Given the description of an element on the screen output the (x, y) to click on. 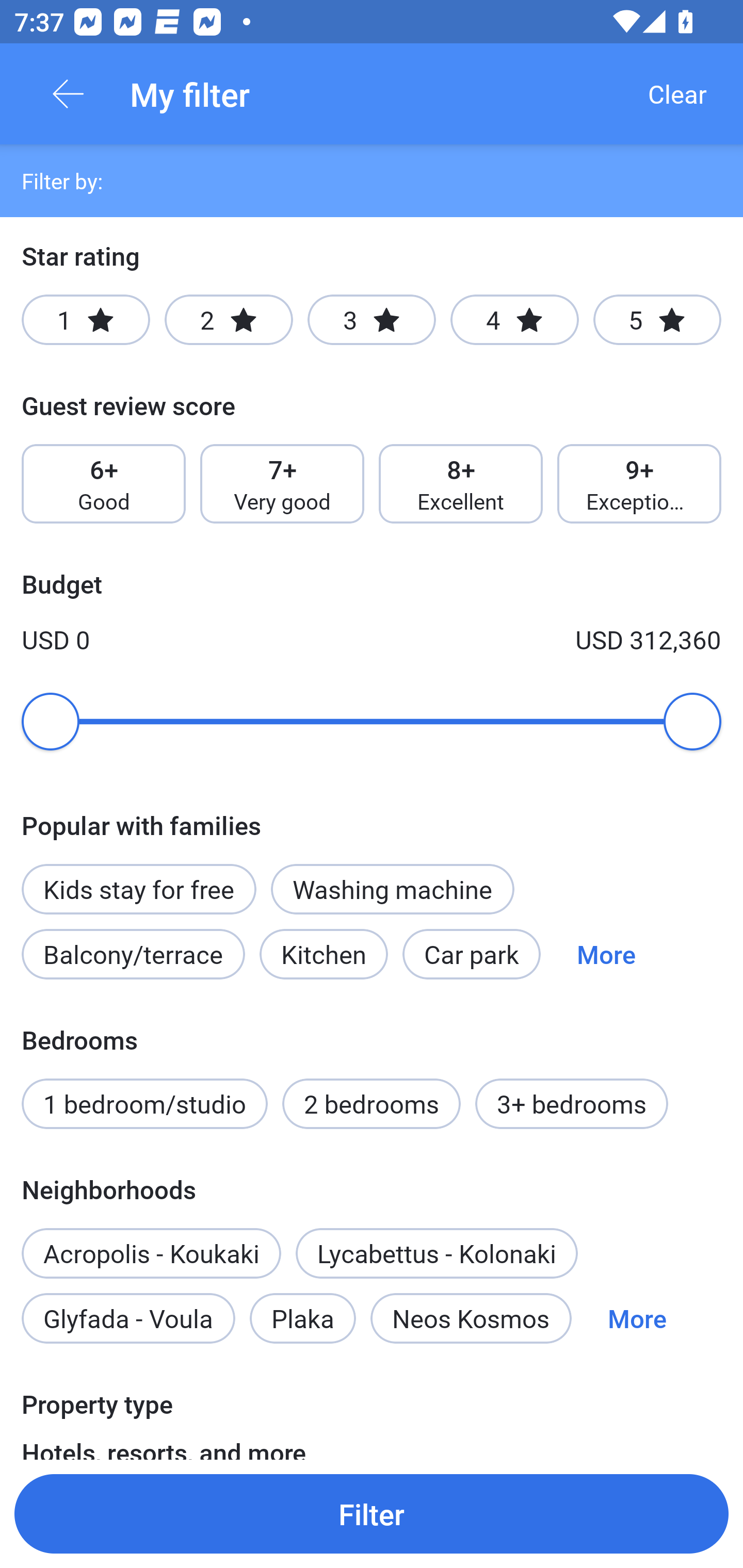
Clear (676, 93)
1 (85, 319)
2 (228, 319)
3 (371, 319)
4 (514, 319)
5 (657, 319)
6+ Good (103, 483)
7+ Very good (281, 483)
8+ Excellent (460, 483)
9+ Exceptional (639, 483)
Kids stay for free (138, 888)
Washing machine (392, 888)
Balcony/terrace (133, 954)
Kitchen (323, 954)
Car park (471, 954)
More (606, 954)
1 bedroom/studio (144, 1103)
2 bedrooms (371, 1103)
3+ bedrooms (571, 1103)
Acropolis - Koukaki (150, 1253)
Lycabettus - Kolonaki (436, 1253)
Glyfada - Voula (128, 1317)
Plaka (302, 1317)
Neos Kosmos (470, 1317)
More (637, 1317)
Filter (371, 1513)
